Given the description of an element on the screen output the (x, y) to click on. 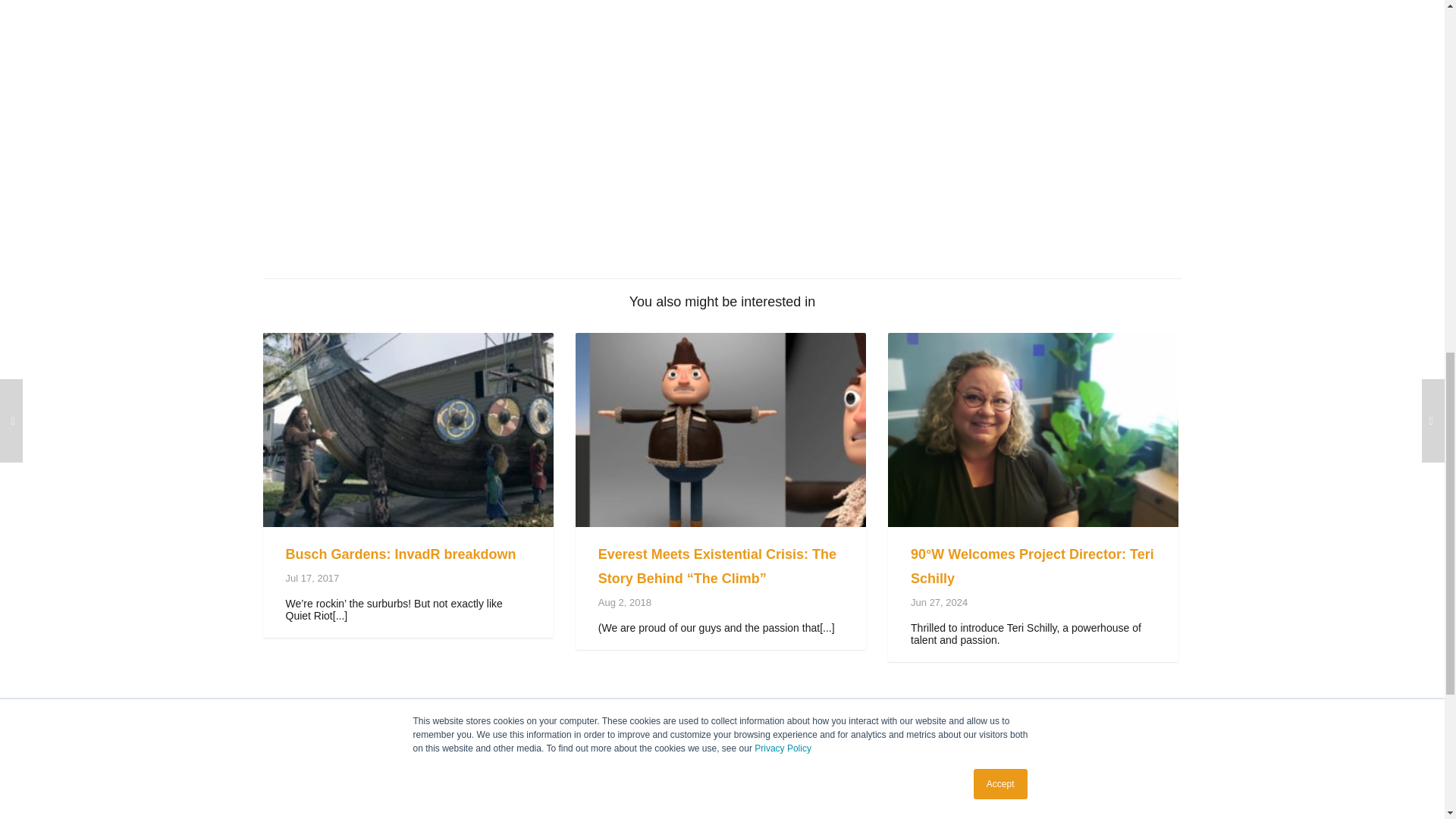
Busch Gardens: InvadR breakdown (400, 554)
